Given the description of an element on the screen output the (x, y) to click on. 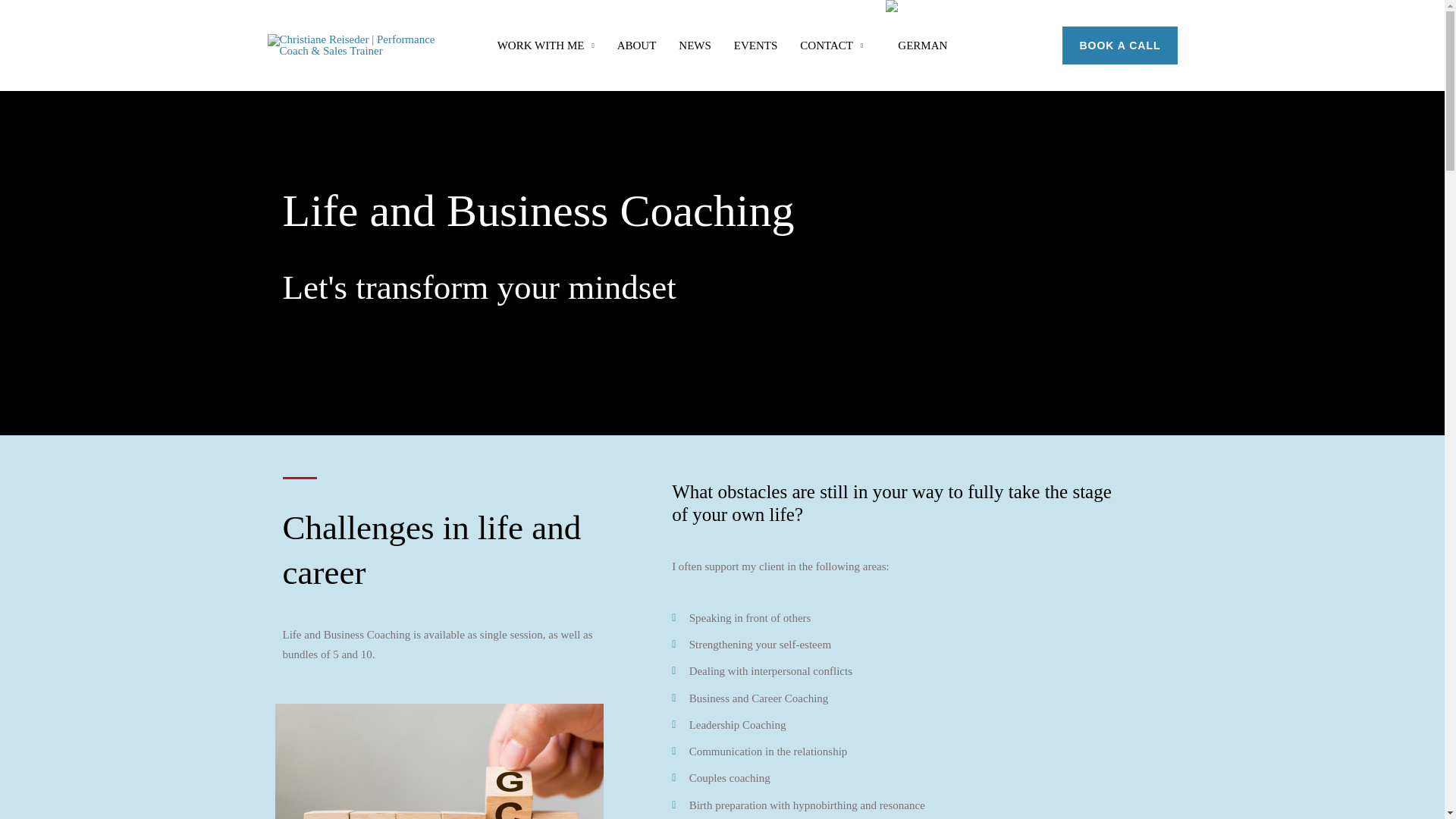
CONTACT (832, 45)
BOOK A CALL (1119, 45)
WORK WITH ME (545, 45)
